Given the description of an element on the screen output the (x, y) to click on. 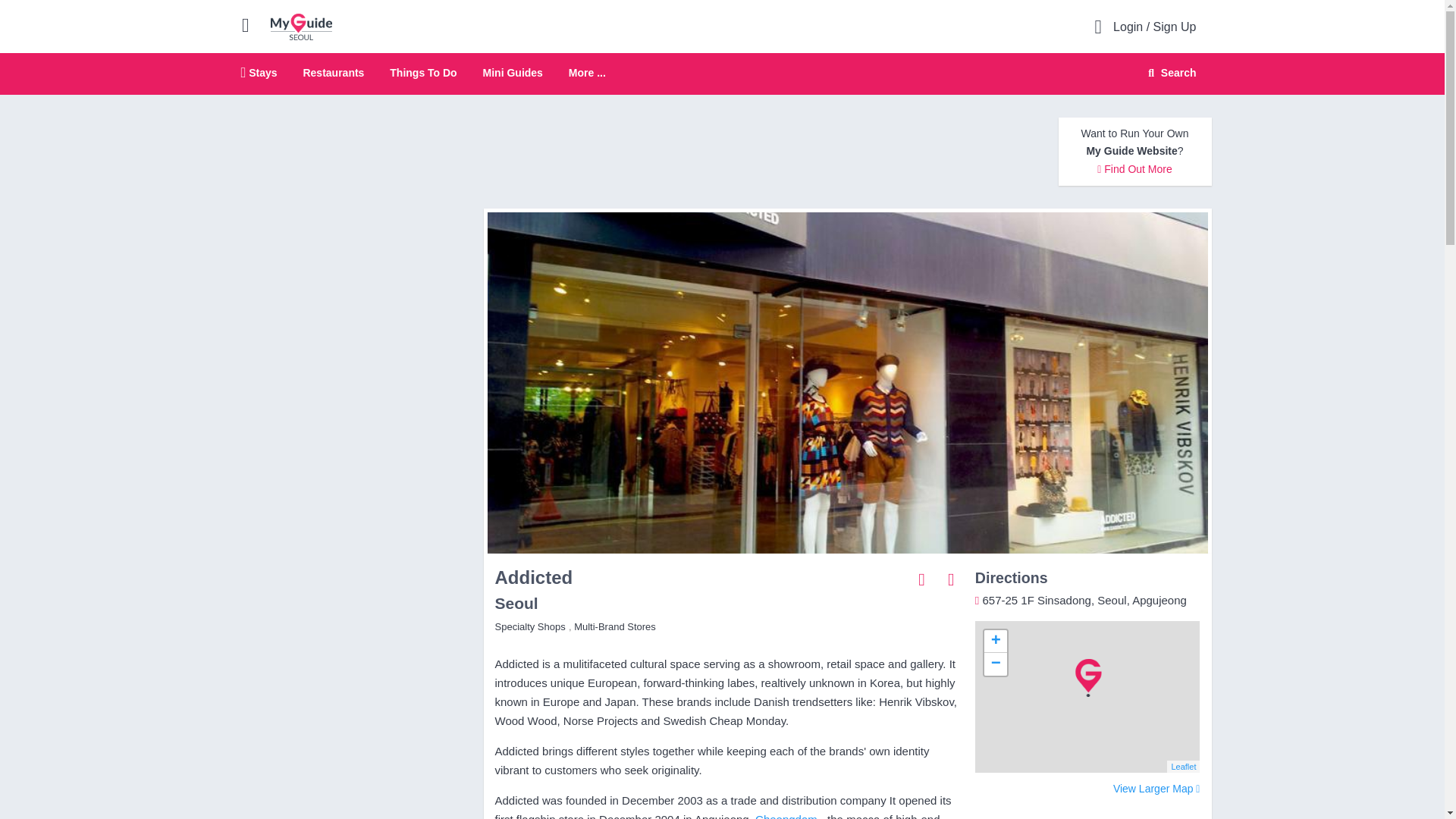
Things To Do (423, 72)
Larger Map for Company: Addicted Seoul (1156, 789)
Zoom out (995, 663)
More ... (587, 72)
Restaurants (721, 74)
Search (333, 72)
Addicted (1169, 72)
Zoom in (300, 25)
Stays (995, 640)
Cheongdam (259, 72)
Find Out More (785, 816)
Mini Guides (1134, 168)
A JS library for interactive maps (513, 72)
